Given the description of an element on the screen output the (x, y) to click on. 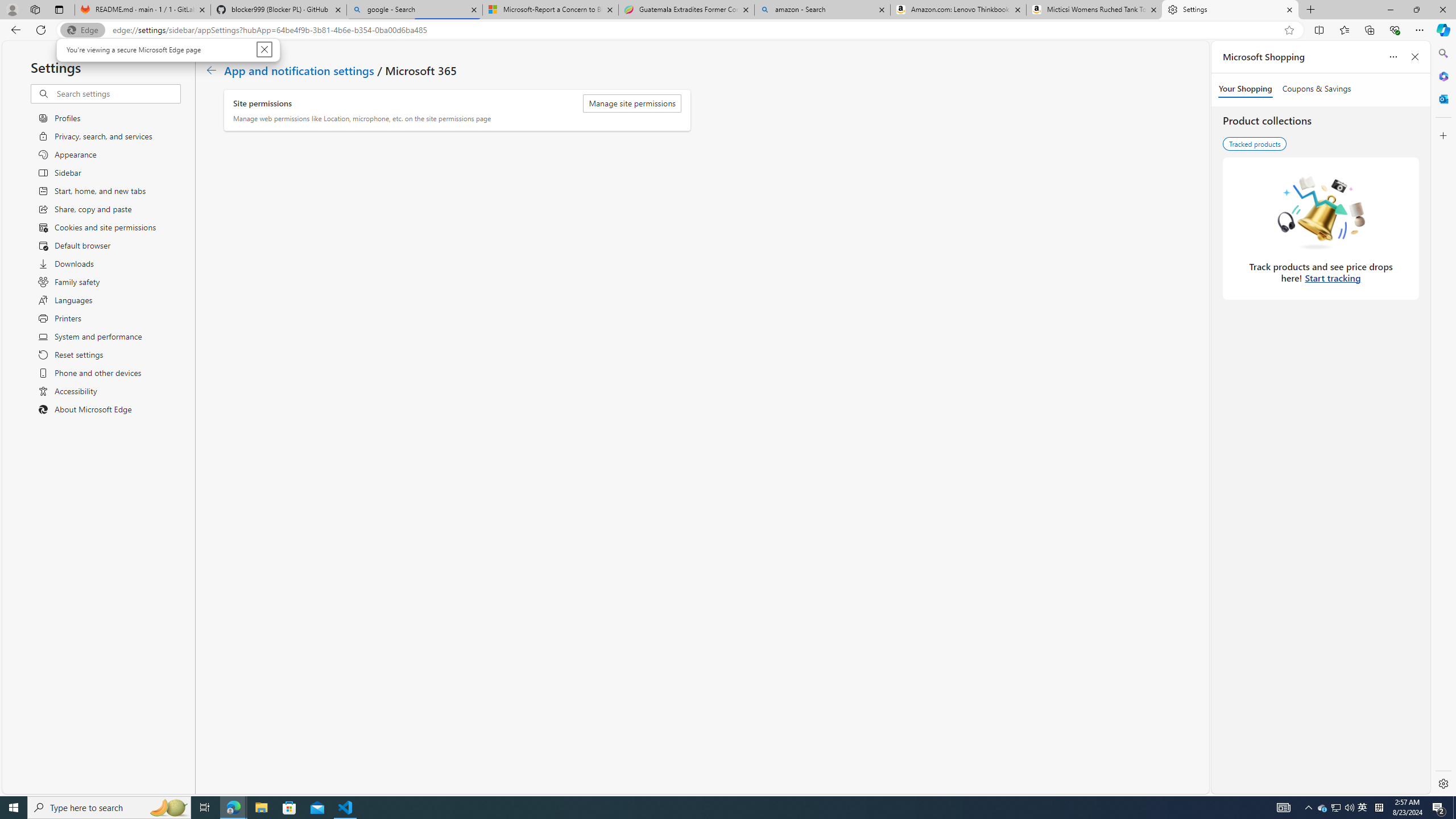
Search settings (1362, 807)
Microsoft Edge - 2 running windows (117, 93)
